Given the description of an element on the screen output the (x, y) to click on. 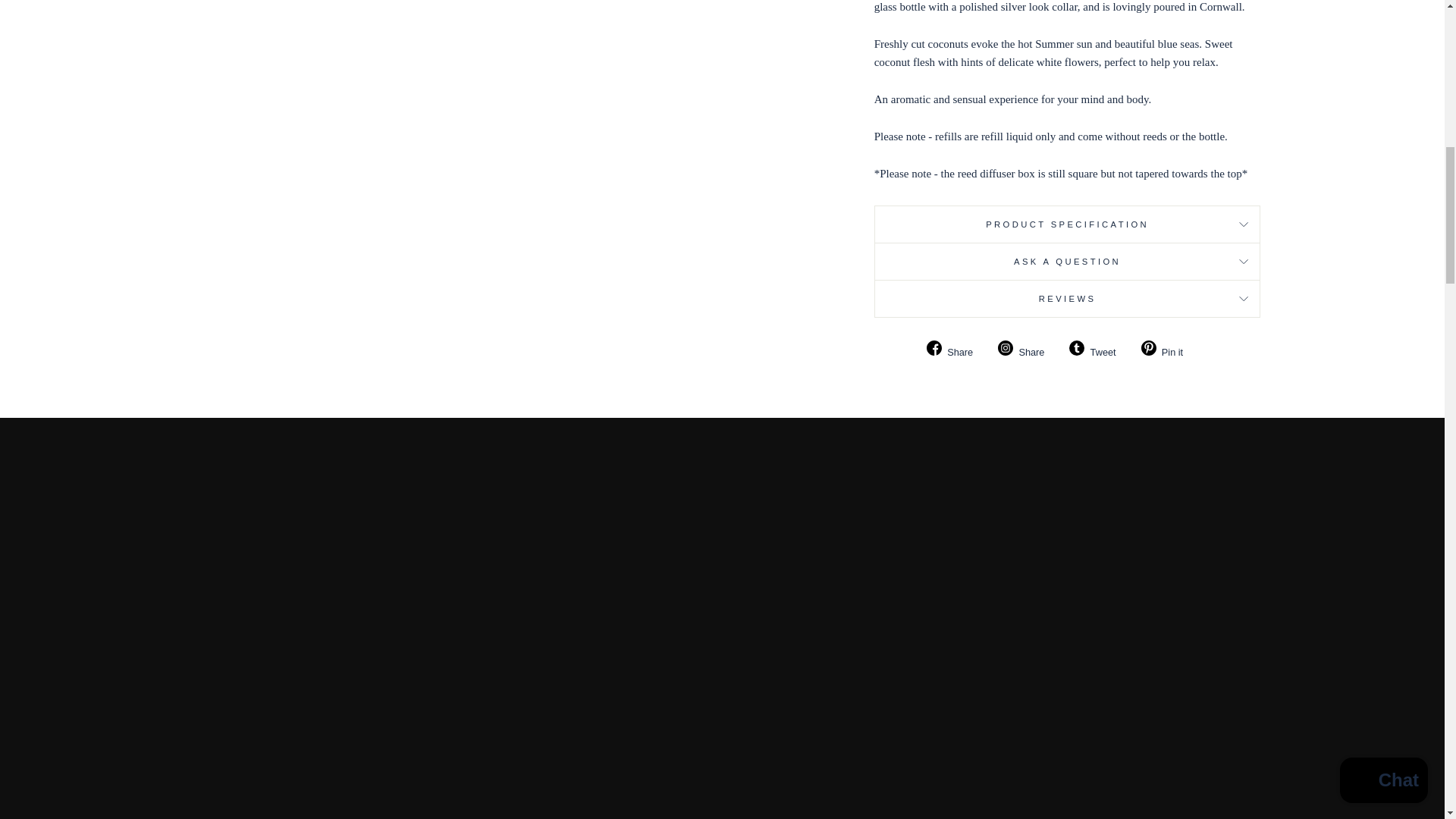
Tweet on Twitter (1097, 350)
Share on Facebook (955, 350)
Share on Facebook (1026, 350)
Pin on Pinterest (1168, 350)
